Given the description of an element on the screen output the (x, y) to click on. 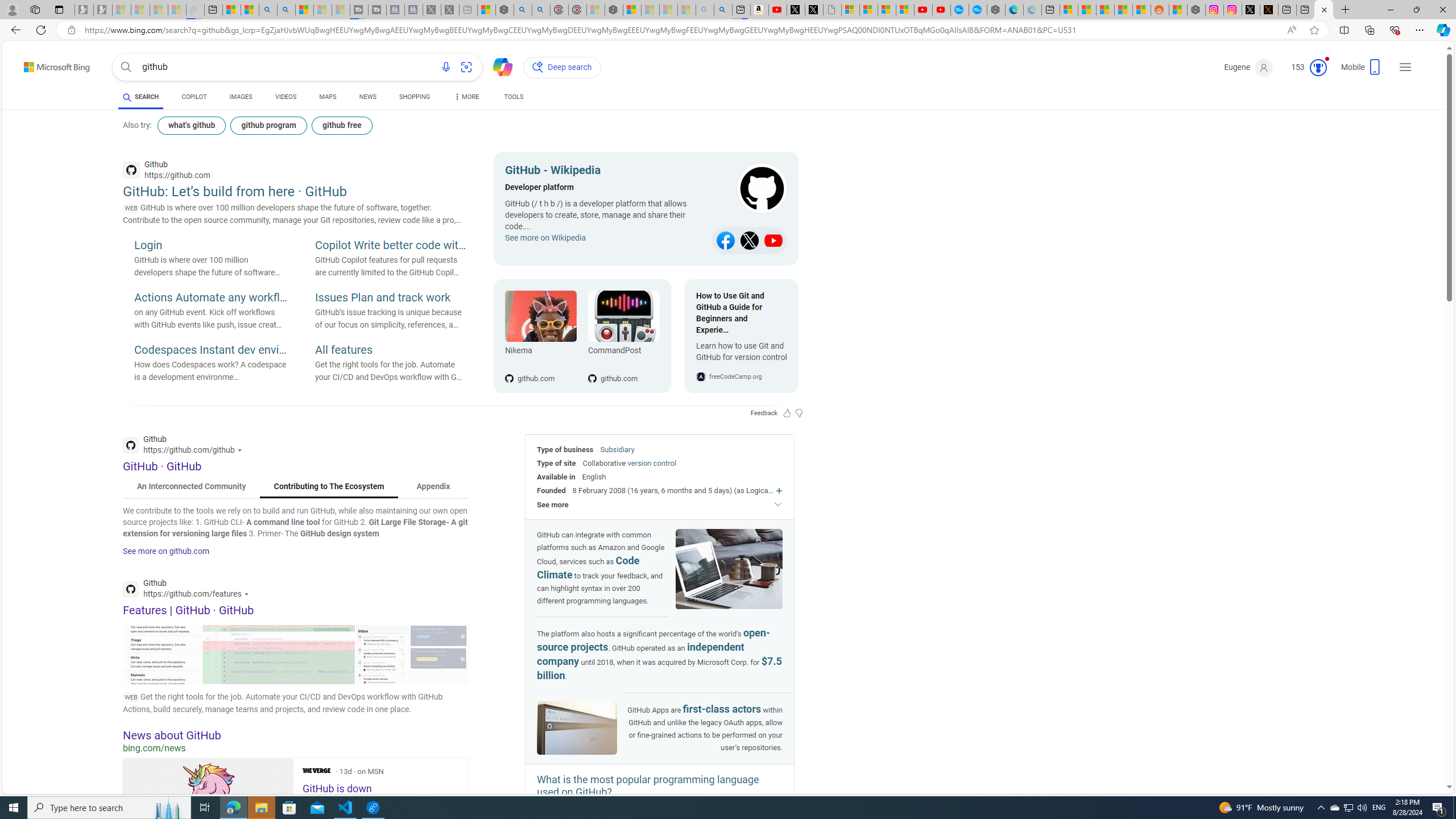
Microsoft Start - Sleeping (322, 9)
View details (437, 653)
Issues Plan and track work (391, 298)
Chat (497, 65)
Search using voice (445, 66)
CommandPost CommandPost github.com (617, 335)
bing.com/news (295, 748)
Contributing to The Ecosystem (328, 486)
